Given the description of an element on the screen output the (x, y) to click on. 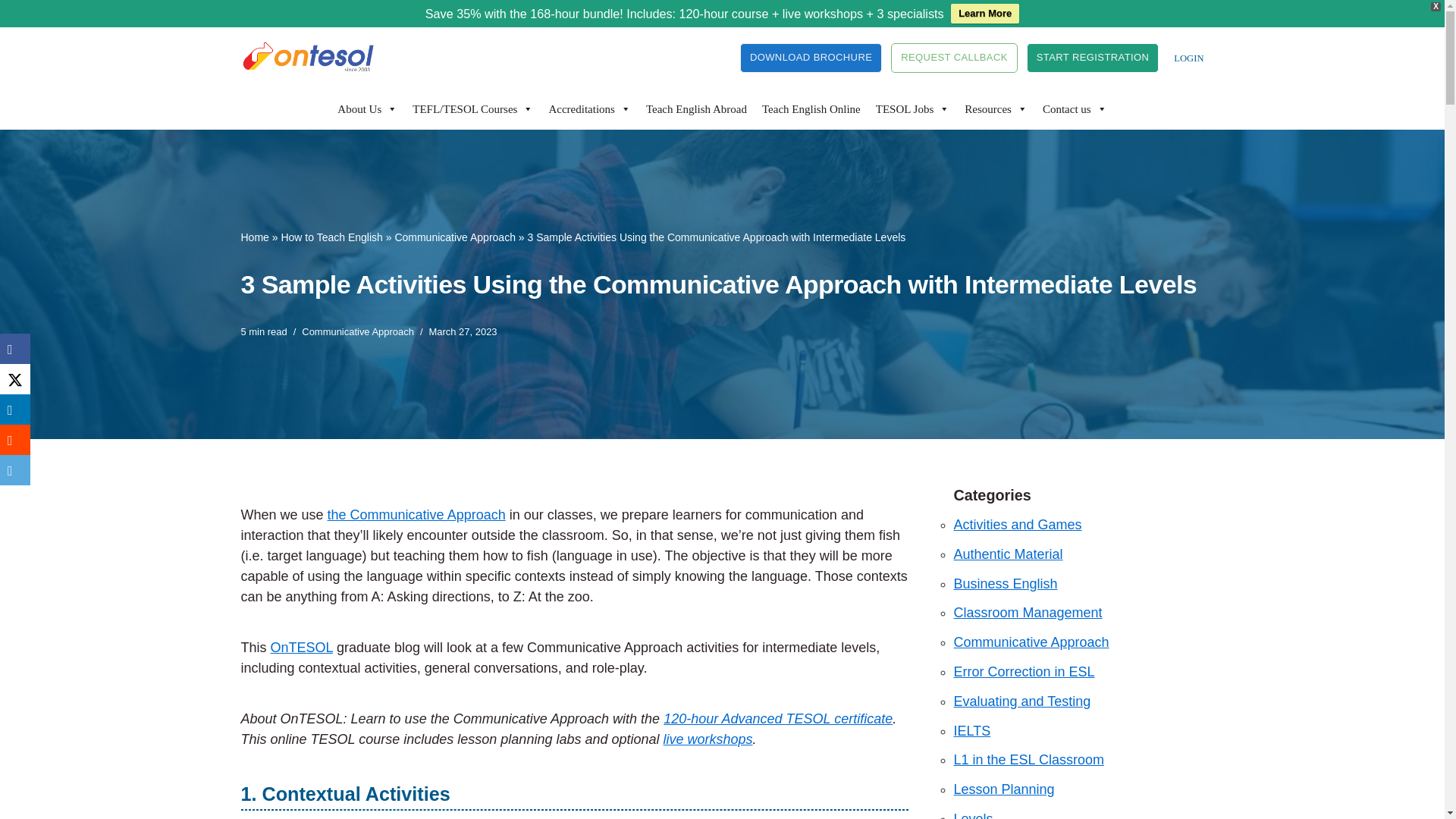
START REGISTRATION (1092, 57)
DOWNLOAD BROCHURE (810, 57)
REQUEST CALLBACK (954, 57)
Learn More (984, 13)
About Us (367, 108)
Accreditations (588, 108)
LOGIN (1188, 58)
Teach English Online (810, 108)
Skip to content (11, 58)
Teach English Abroad (696, 108)
